Given the description of an element on the screen output the (x, y) to click on. 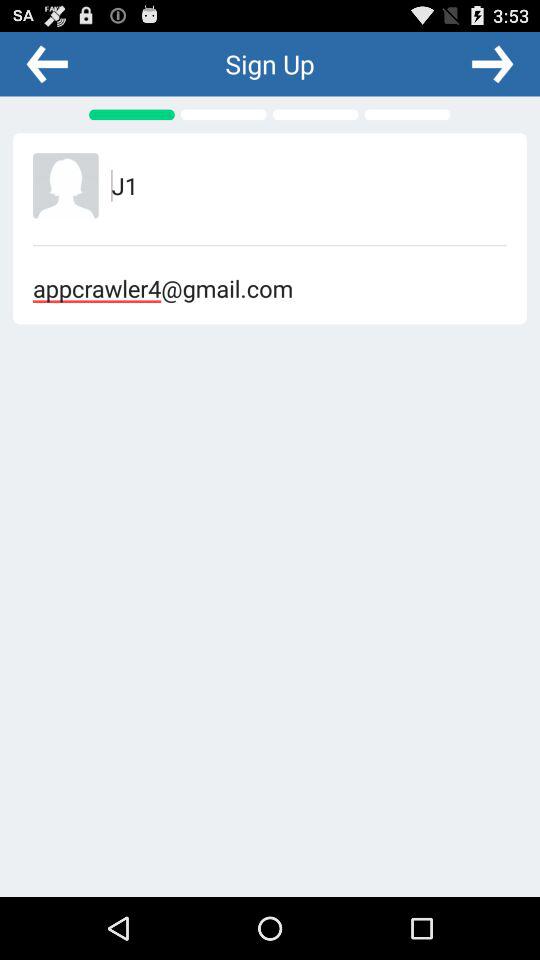
go to next step (492, 63)
